Given the description of an element on the screen output the (x, y) to click on. 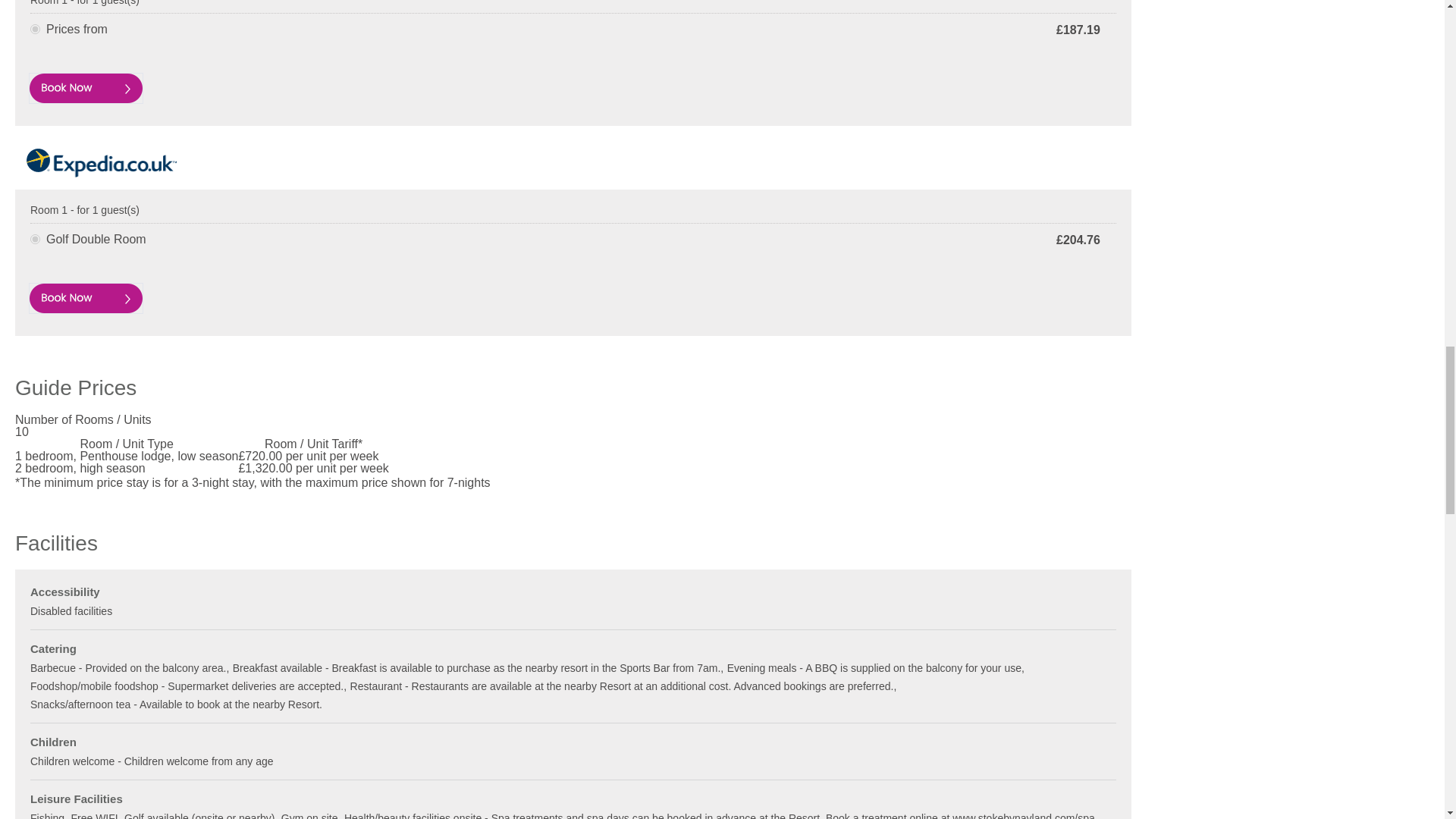
200475216 (35, 29)
Book Online (85, 297)
Book Online (85, 88)
